Given the description of an element on the screen output the (x, y) to click on. 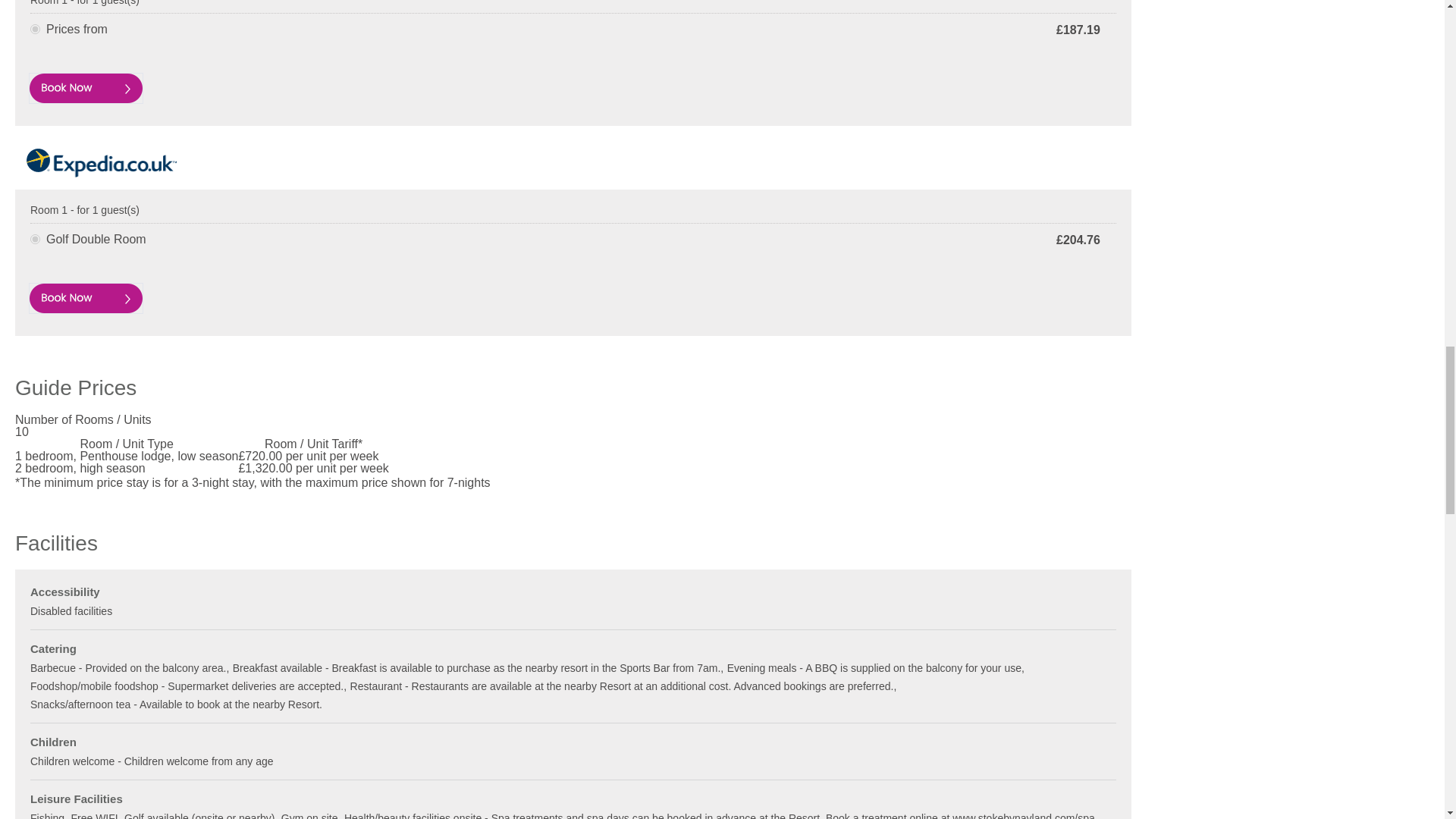
200475216 (35, 29)
Book Online (85, 297)
Book Online (85, 88)
